Given the description of an element on the screen output the (x, y) to click on. 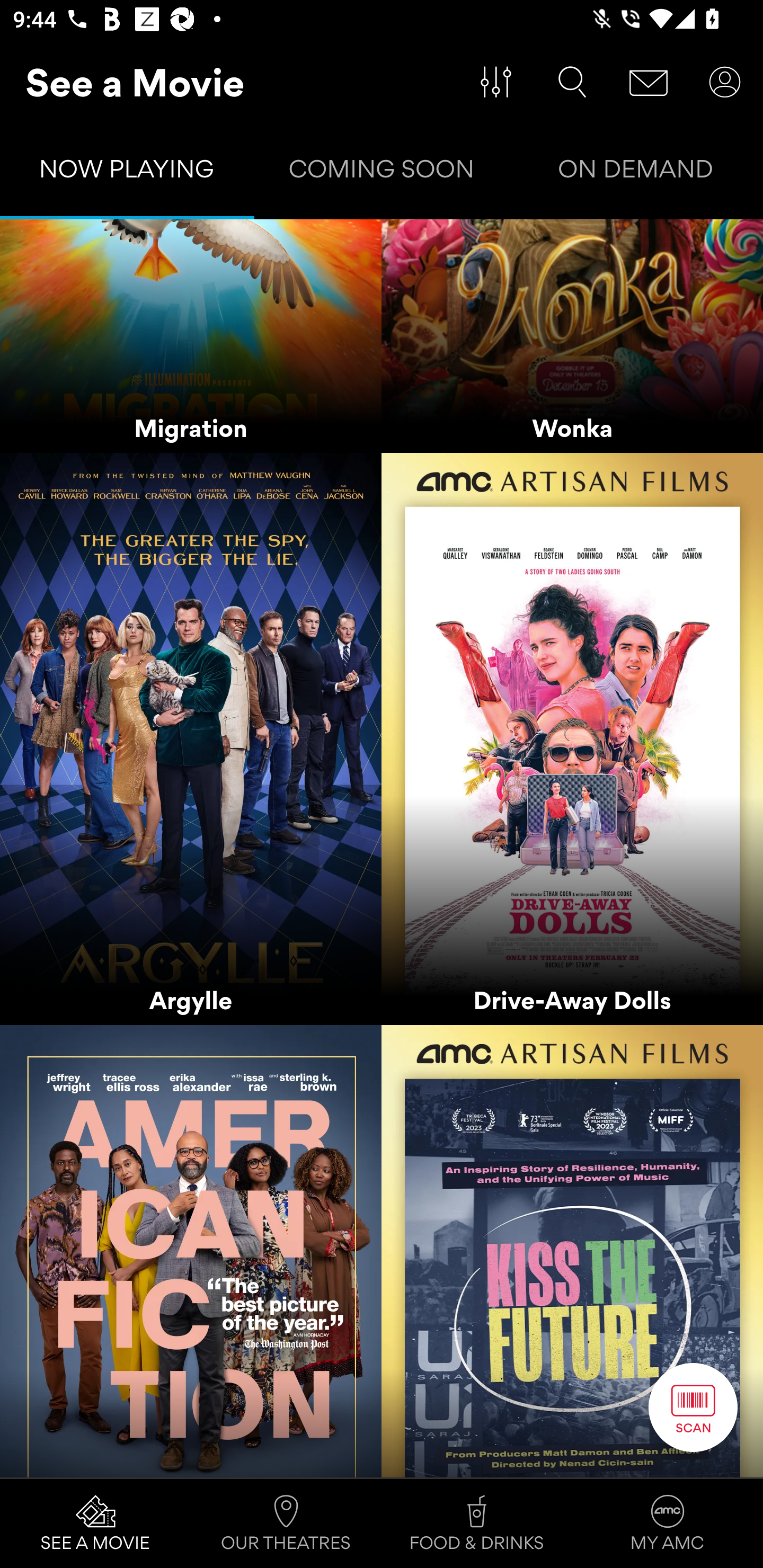
Filter Movies (495, 82)
Search (572, 82)
Message Center (648, 82)
User Account (724, 82)
NOW PLAYING
Tab 1 of 3 (127, 173)
COMING SOON
Tab 2 of 3 (381, 173)
ON DEMAND
Tab 3 of 3 (635, 173)
Migration (190, 336)
Wonka (572, 336)
Argylle (190, 739)
Drive-Away Dolls (572, 739)
American Fiction (190, 1251)
Kiss the Future (572, 1251)
Scan Button (692, 1406)
SEE A MOVIE
Tab 1 of 4 (95, 1523)
OUR THEATRES
Tab 2 of 4 (285, 1523)
FOOD & DRINKS
Tab 3 of 4 (476, 1523)
MY AMC
Tab 4 of 4 (667, 1523)
